Given the description of an element on the screen output the (x, y) to click on. 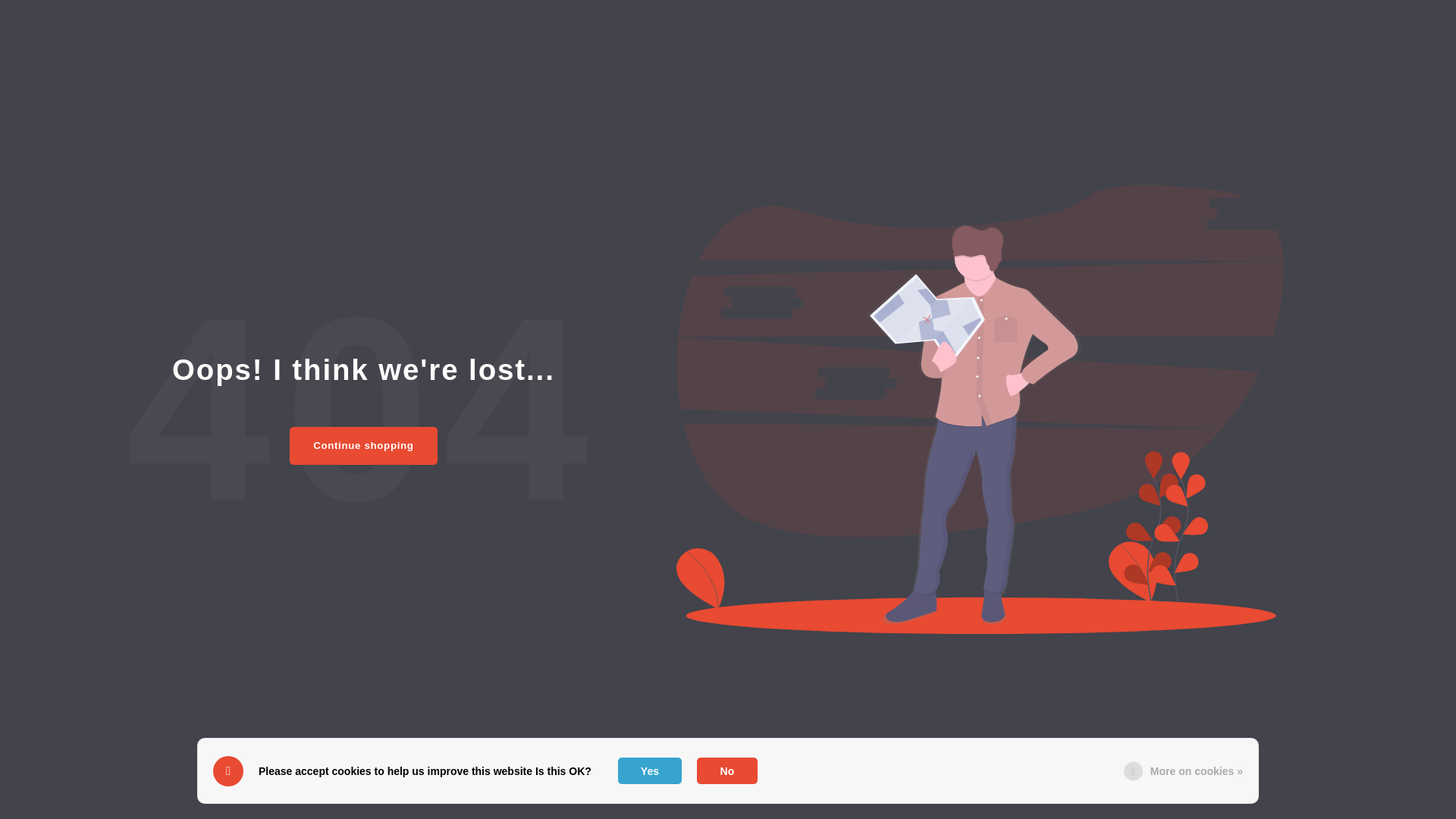
Yes (649, 770)
Continue shopping (362, 445)
No (727, 770)
More on cookies (1196, 770)
No (727, 770)
Yes (649, 770)
